Given the description of an element on the screen output the (x, y) to click on. 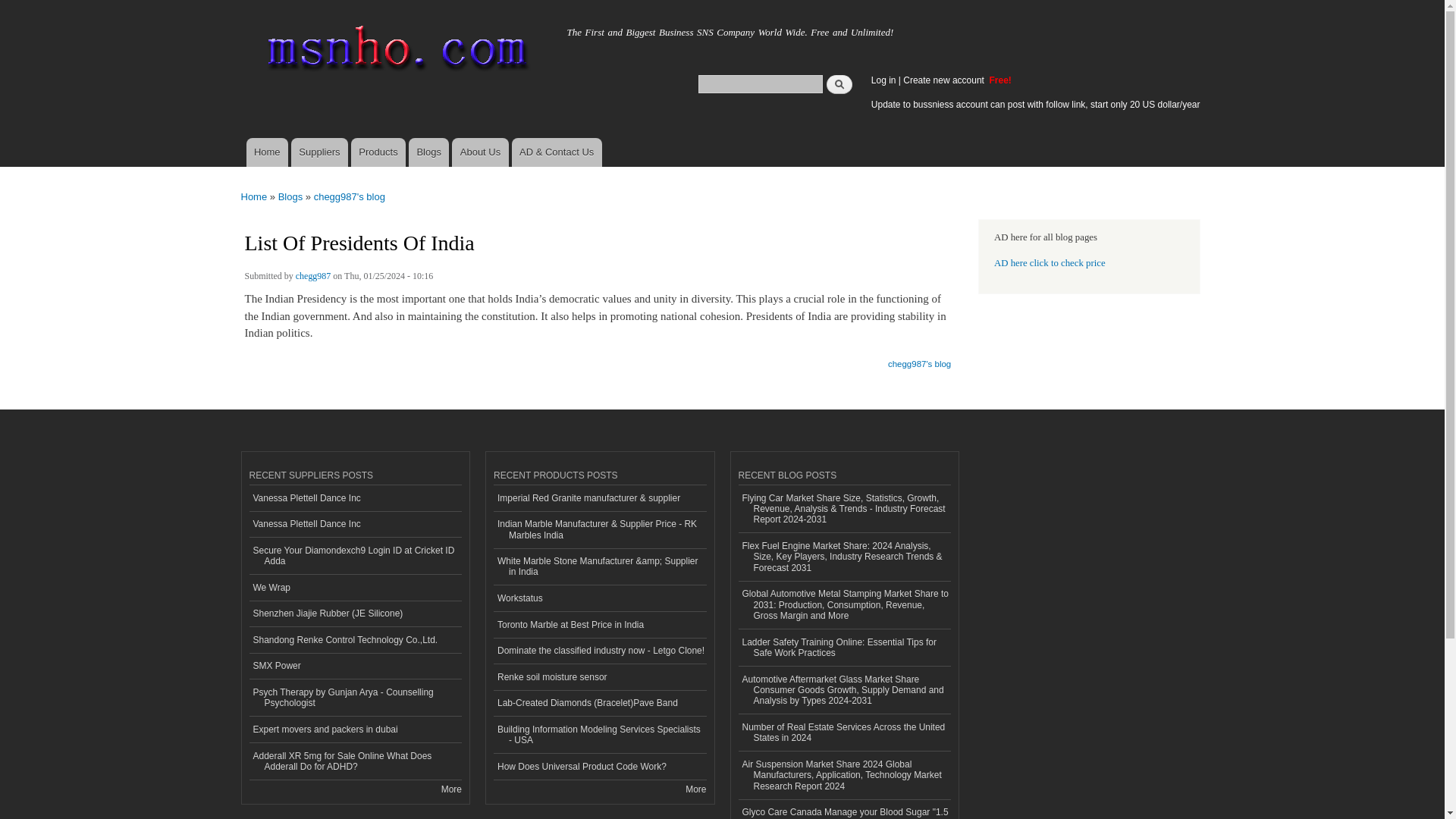
Search (839, 83)
Read chegg987's latest blog entries. (919, 358)
Enter the terms you wish to search for. (760, 83)
About Us (479, 152)
Create new account (944, 79)
About us (479, 152)
Read the latest suppliers entries. (451, 788)
chegg987's blog (919, 358)
Blogs for suppliers and buyers (428, 152)
Log in (883, 79)
